Given the description of an element on the screen output the (x, y) to click on. 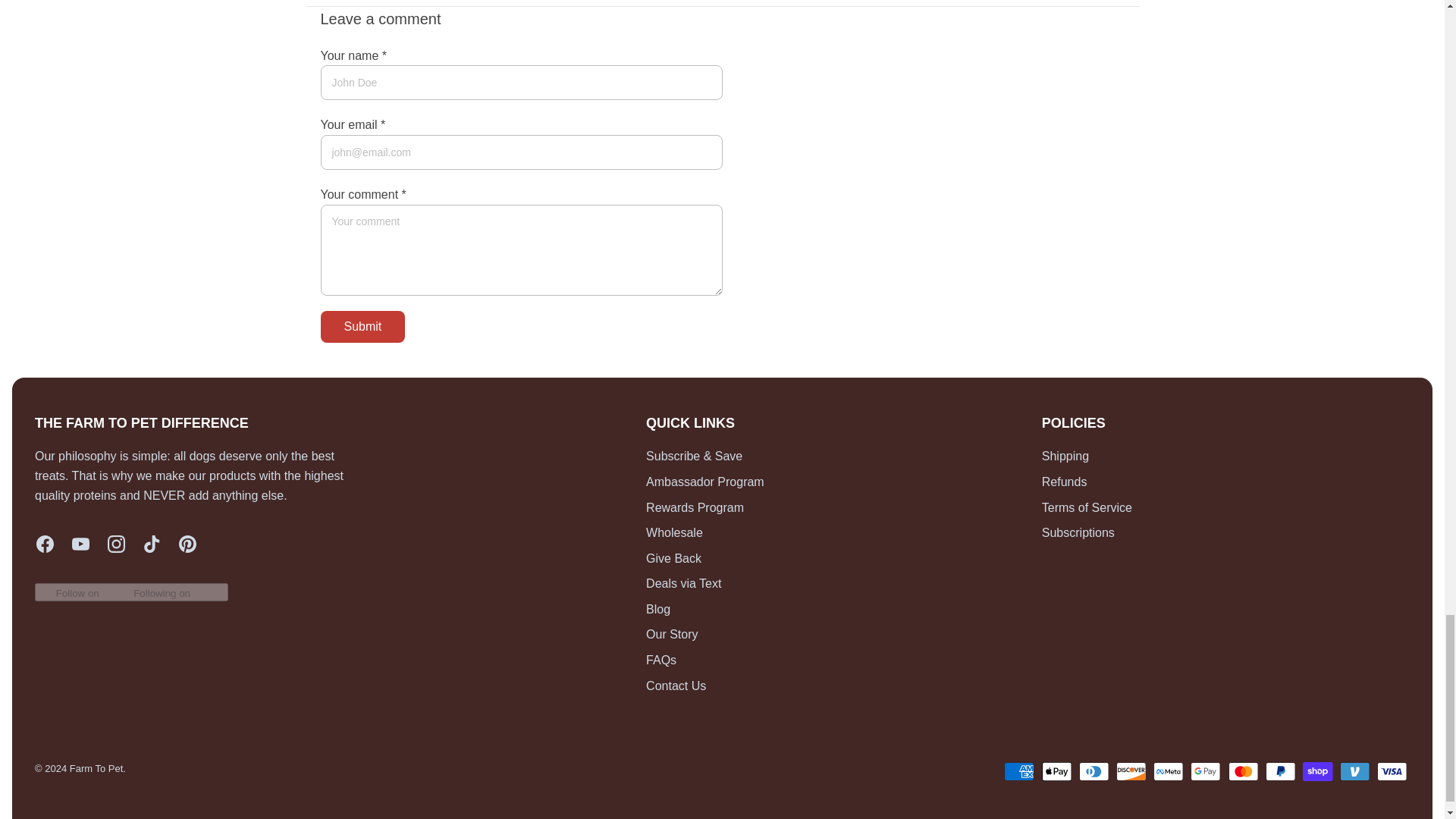
Diners Club (1093, 771)
Meta Pay (1168, 771)
Google Pay (1205, 771)
Youtube (79, 543)
Instagram (116, 543)
American Express (1018, 771)
Mastercard (1242, 771)
Pinterest (187, 543)
Apple Pay (1056, 771)
Discover (1130, 771)
